Given the description of an element on the screen output the (x, y) to click on. 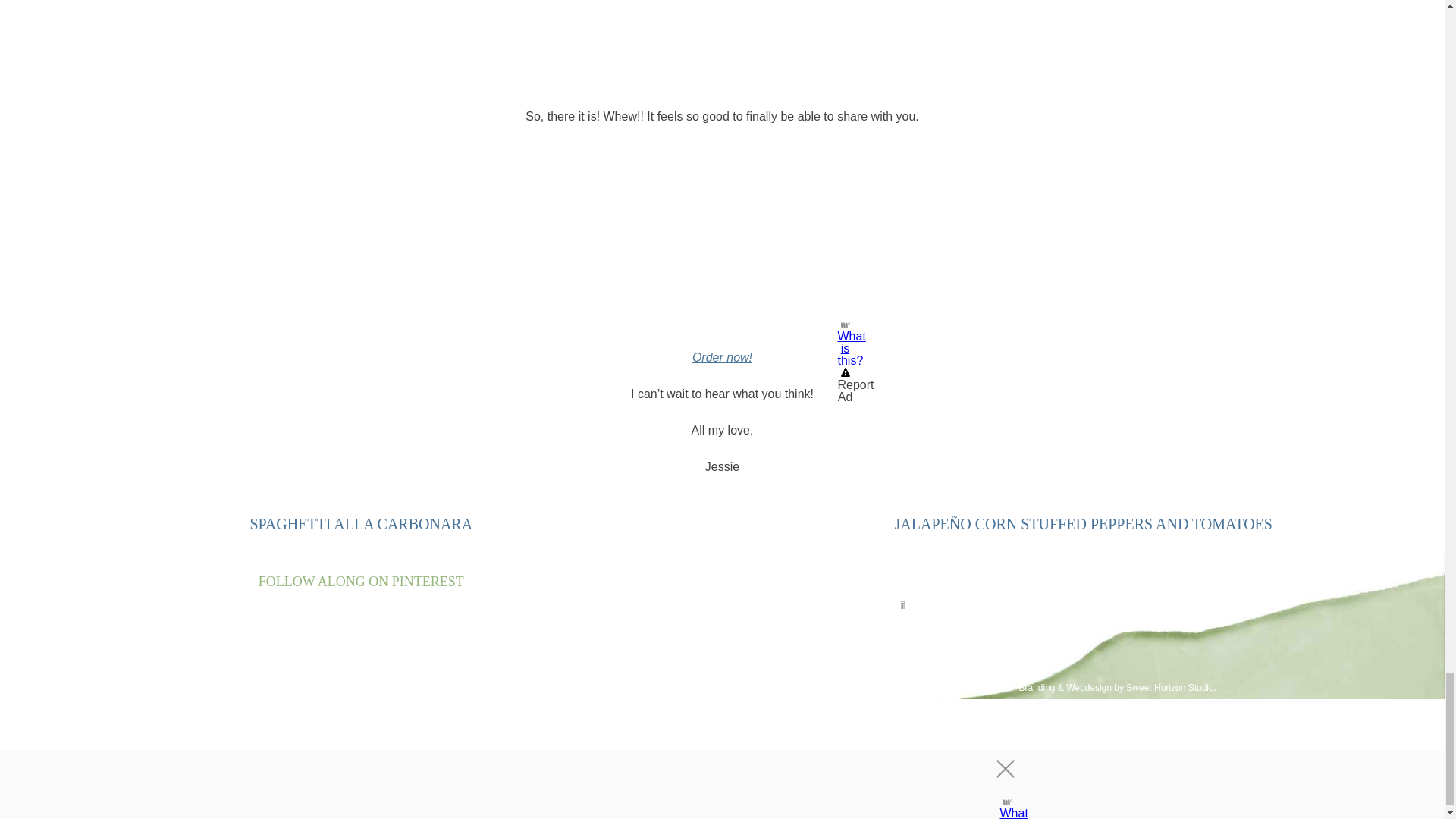
RECIPE DIRECTORY (901, 649)
HOME (747, 649)
PRIVACY POLICY (783, 670)
FOLLOW ALONG ON PINTEREST (361, 581)
Sweet Horizon Studio (1168, 687)
3rd party ad content (721, 238)
SPAGHETTI ALLA CARBONARA (359, 523)
ABOUT (802, 649)
Order now! (722, 357)
